Given the description of an element on the screen output the (x, y) to click on. 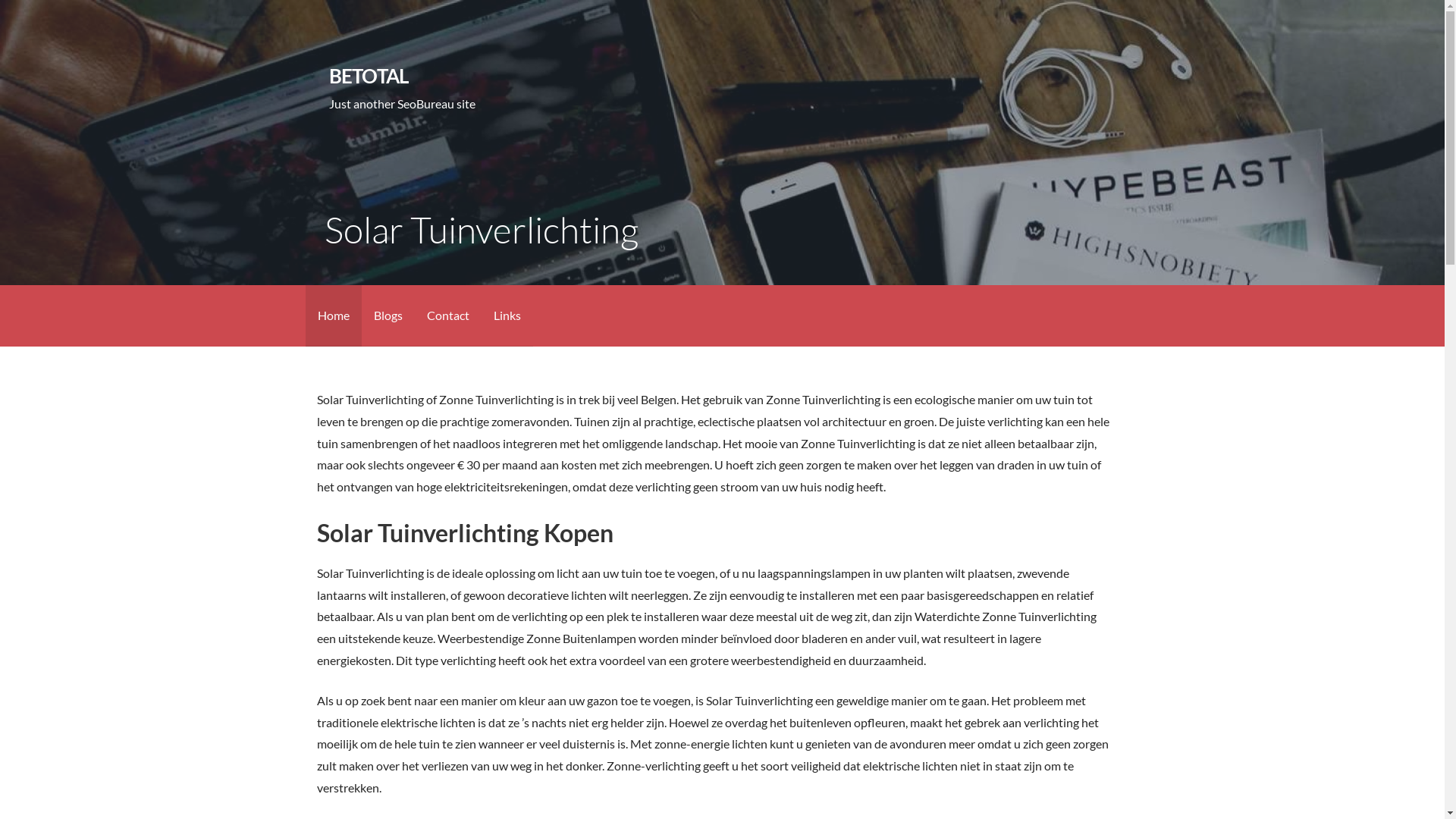
Blogs Element type: text (387, 315)
Links Element type: text (506, 315)
Home Element type: text (332, 315)
Contact Element type: text (447, 315)
BETOTAL Element type: text (368, 75)
